Given the description of an element on the screen output the (x, y) to click on. 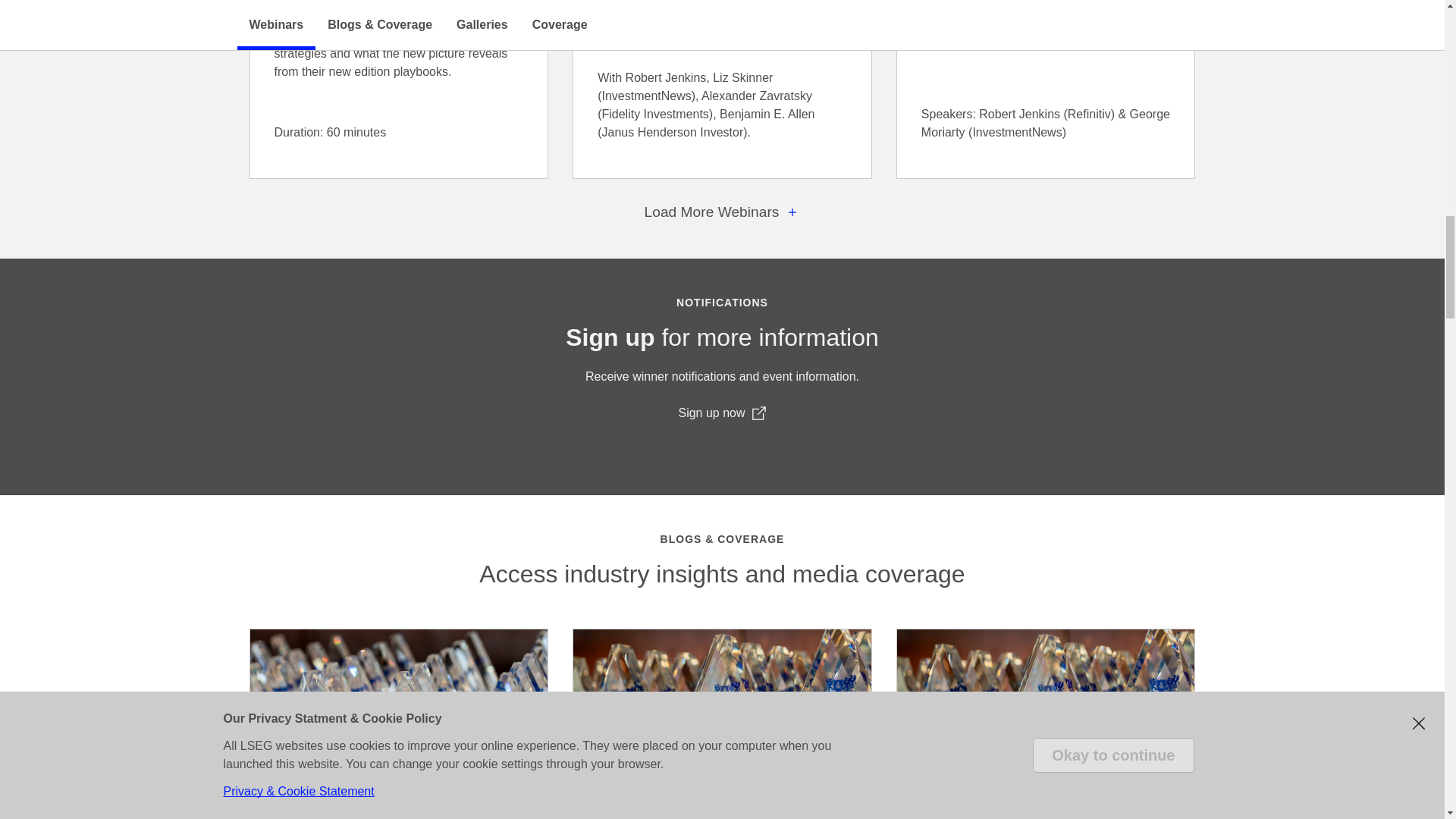
external (759, 412)
